Given the description of an element on the screen output the (x, y) to click on. 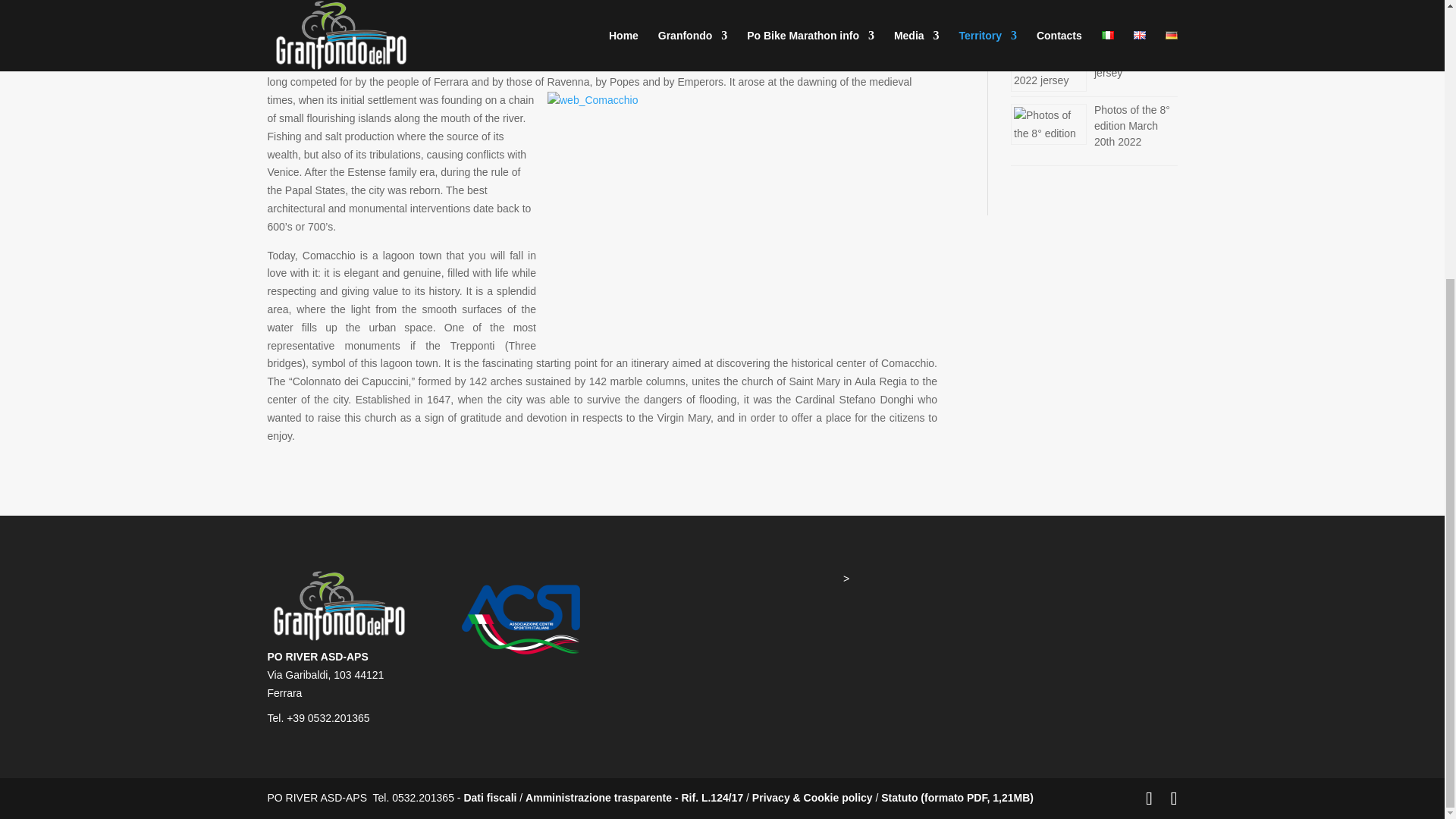
Radio Birikina media partner (1126, 12)
